Given the description of an element on the screen output the (x, y) to click on. 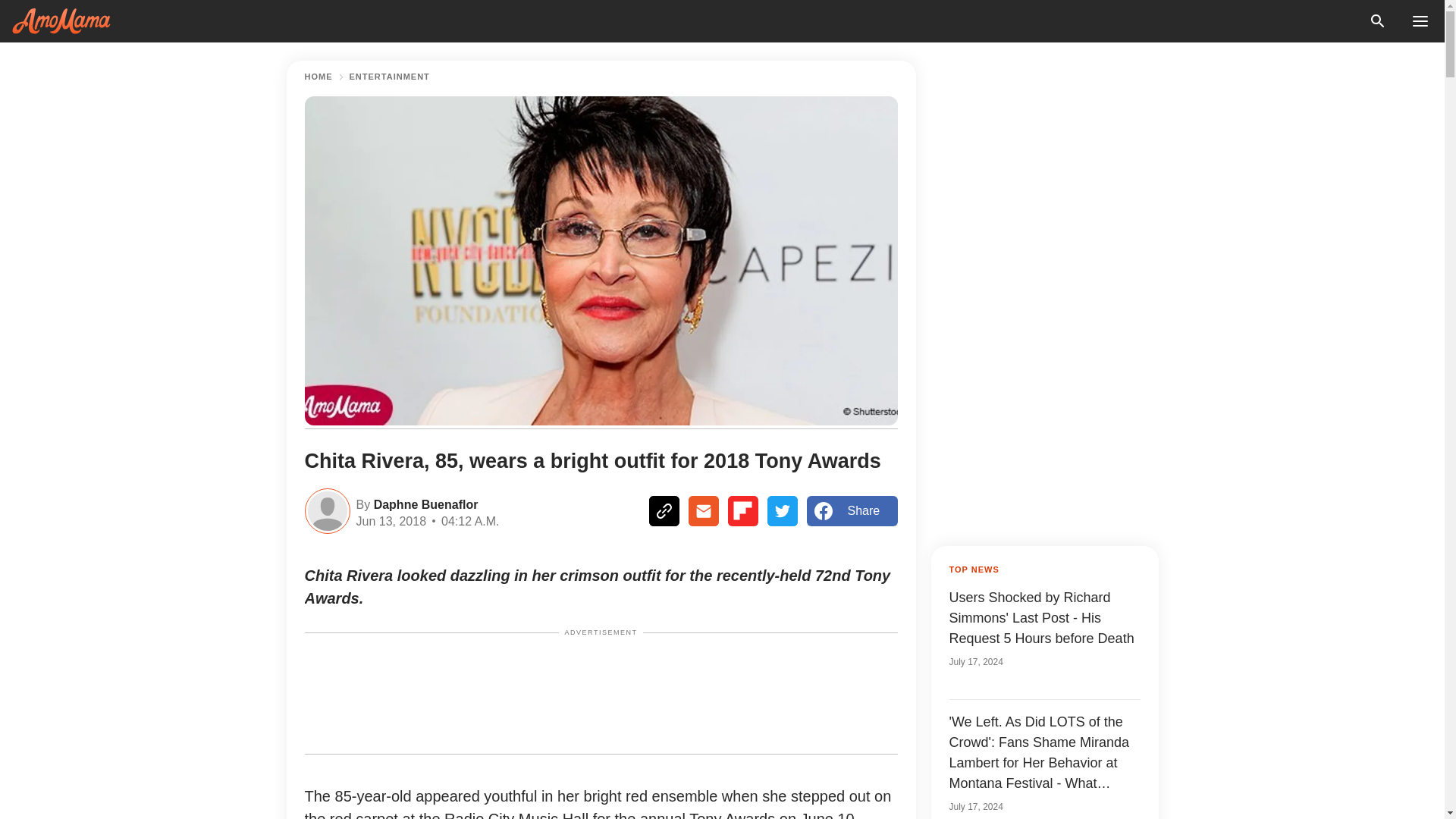
ENTERTAINMENT (389, 76)
HOME (318, 76)
Daphne Buenaflor (423, 503)
